Given the description of an element on the screen output the (x, y) to click on. 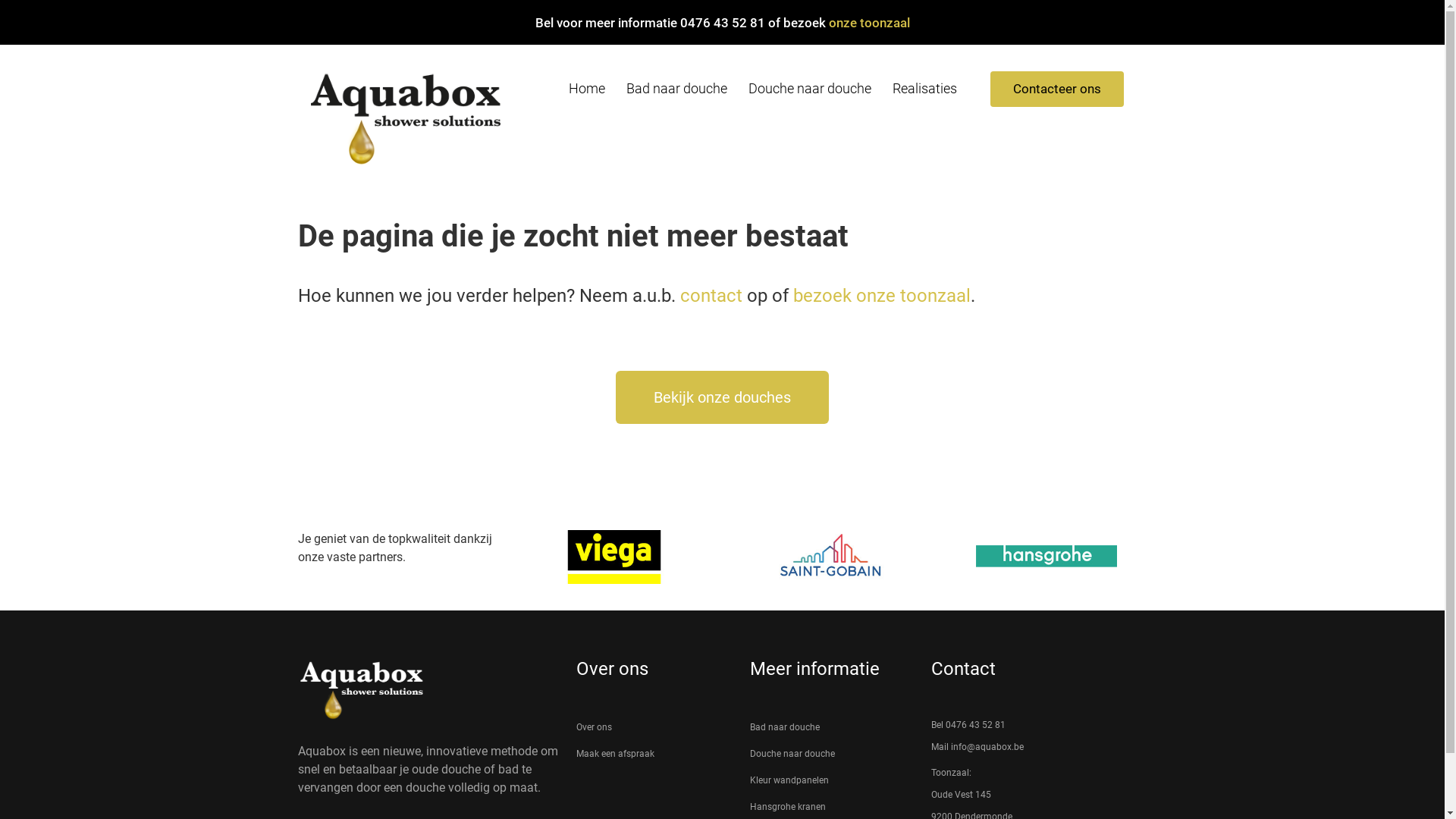
Hansgrohe kranen Element type: text (832, 806)
Bad naar douche Element type: text (832, 726)
Douche naar douche Element type: text (809, 88)
Realisaties Element type: text (924, 88)
contact Element type: text (710, 295)
Bekijk onze douches Element type: text (721, 396)
Kleur wandpanelen Element type: text (832, 779)
bezoek onze toonzaal Element type: text (881, 295)
Contacteer ons Element type: text (1056, 88)
Home Element type: text (586, 88)
onze toonzaal Element type: text (868, 22)
Over ons Element type: text (655, 726)
Maak een afspraak Element type: text (655, 753)
Douche naar douche Element type: text (832, 753)
Bad naar douche Element type: text (676, 88)
Mail info@aquabox.be Element type: text (1038, 746)
